Given the description of an element on the screen output the (x, y) to click on. 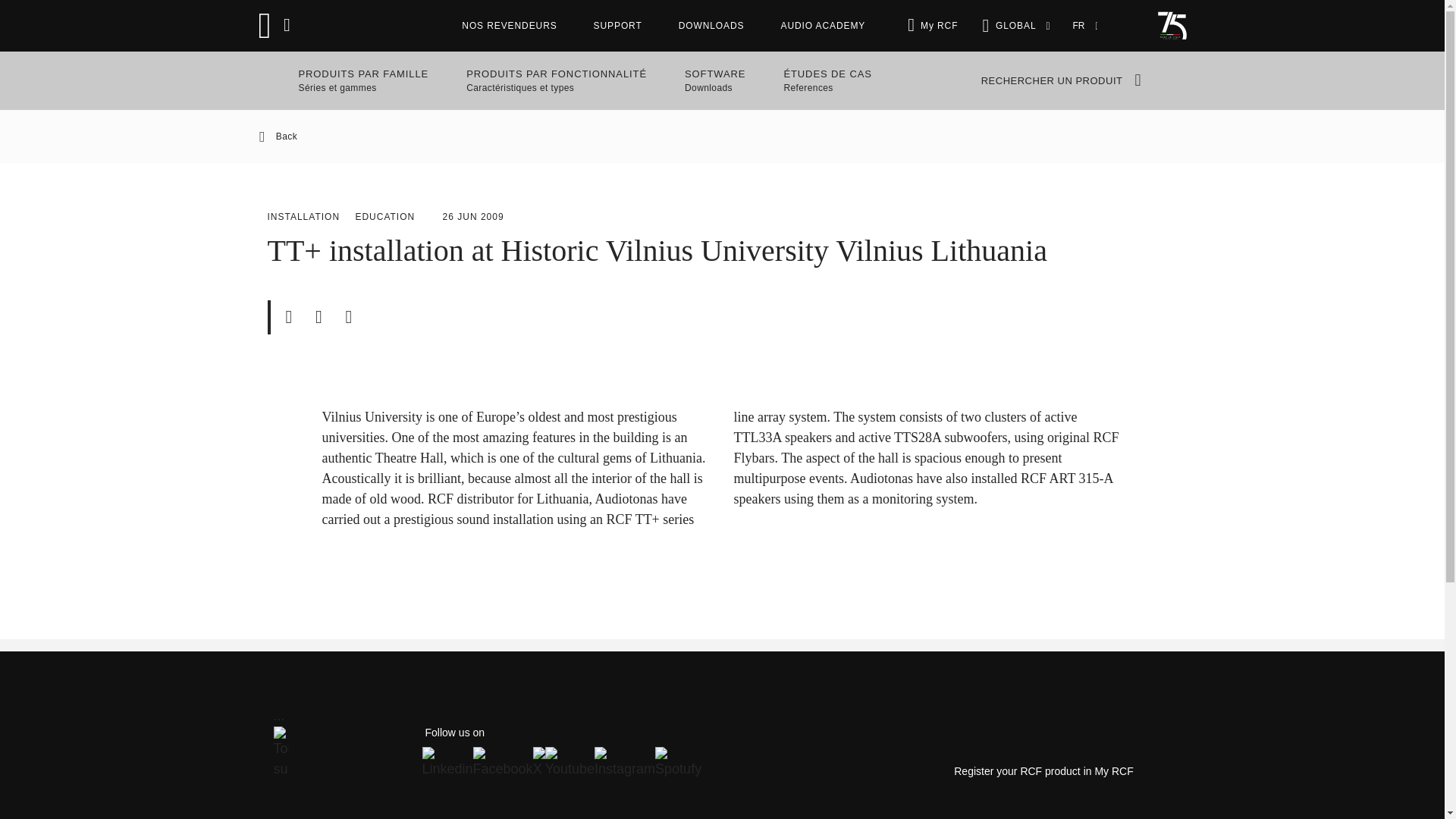
AUDIO ACADEMY (714, 80)
Back (822, 25)
SUPPORT (721, 135)
NOS REVENDEURS (618, 25)
My RCF (509, 25)
DOWNLOADS (939, 25)
